Given the description of an element on the screen output the (x, y) to click on. 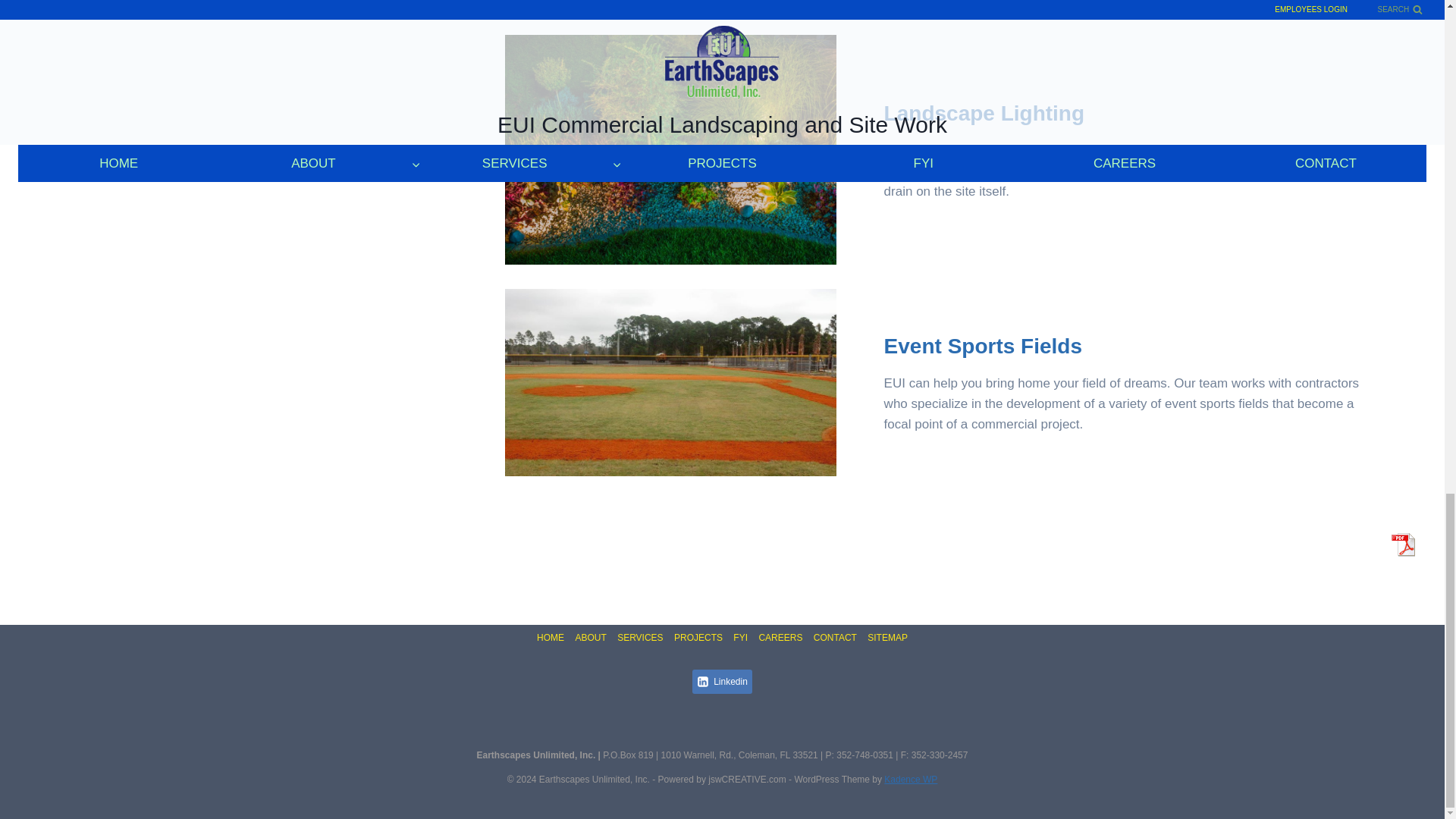
FYI (740, 638)
View PDF (1402, 544)
SERVICES (639, 638)
CONTACT (834, 638)
HOME (550, 638)
SITEMAP (886, 638)
PROJECTS (698, 638)
Kadence WP (910, 778)
CAREERS (780, 638)
Linkedin (722, 681)
ABOUT (590, 638)
